Given the description of an element on the screen output the (x, y) to click on. 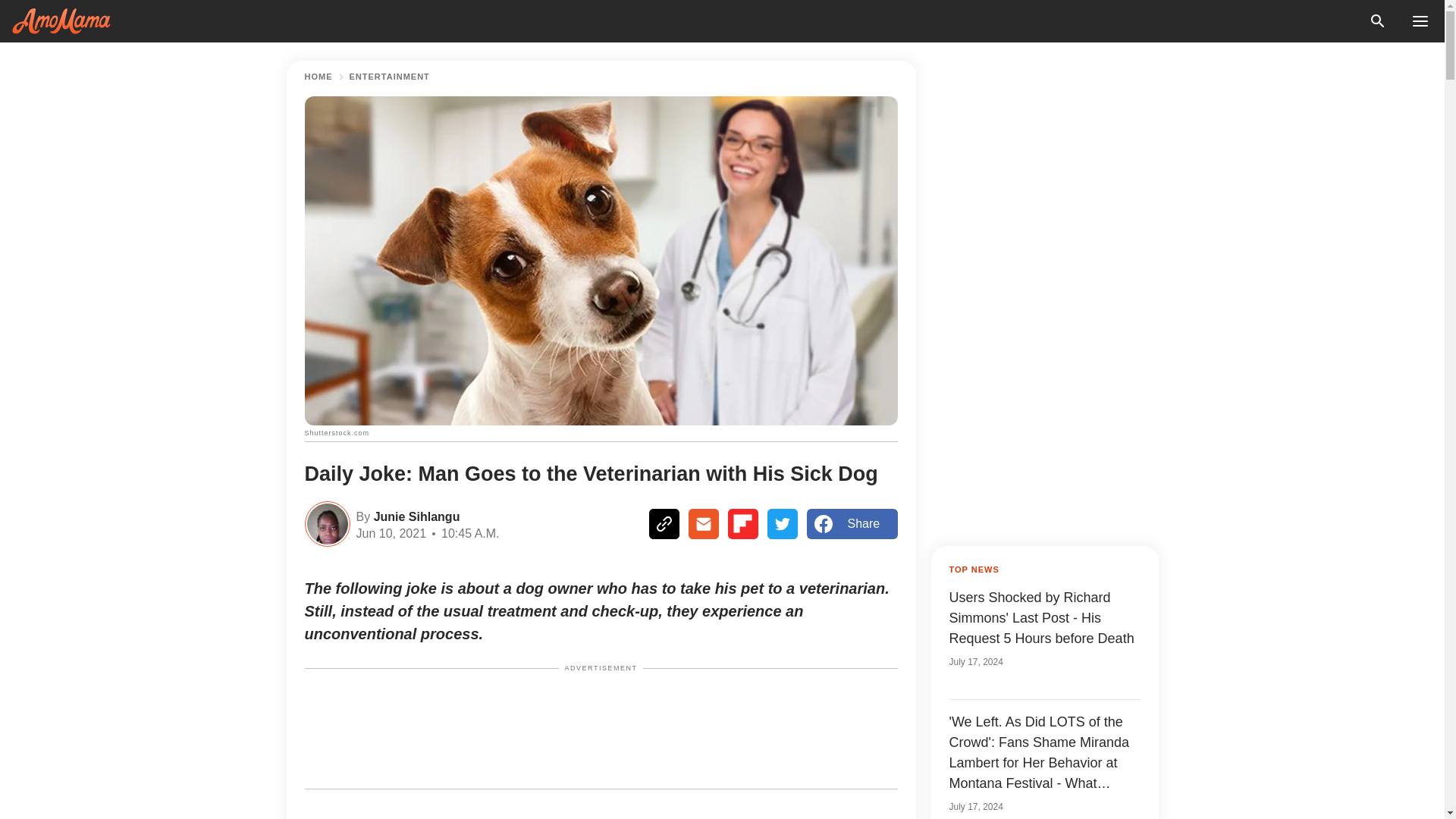
ENTERTAINMENT (389, 76)
HOME (318, 76)
Junie Sihlangu (414, 515)
